Given the description of an element on the screen output the (x, y) to click on. 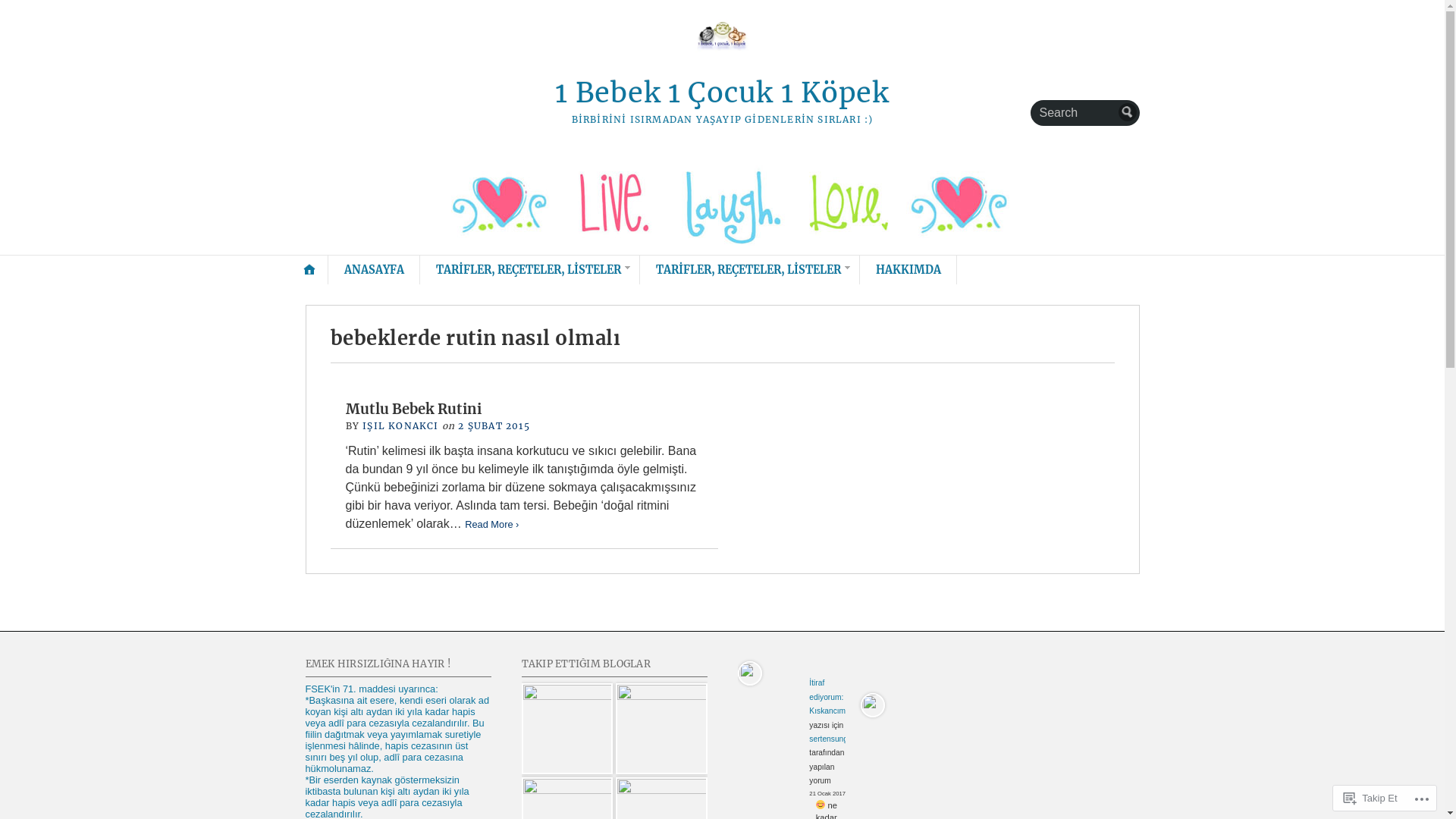
sertensungur Element type: text (831, 738)
Mutlu Bebek Rutini Element type: text (413, 408)
sahincem Element type: hover (661, 729)
Takip Et Element type: text (1369, 797)
HAKKIMDA Element type: text (907, 269)
ANASAYFA Element type: text (374, 269)
